Given the description of an element on the screen output the (x, y) to click on. 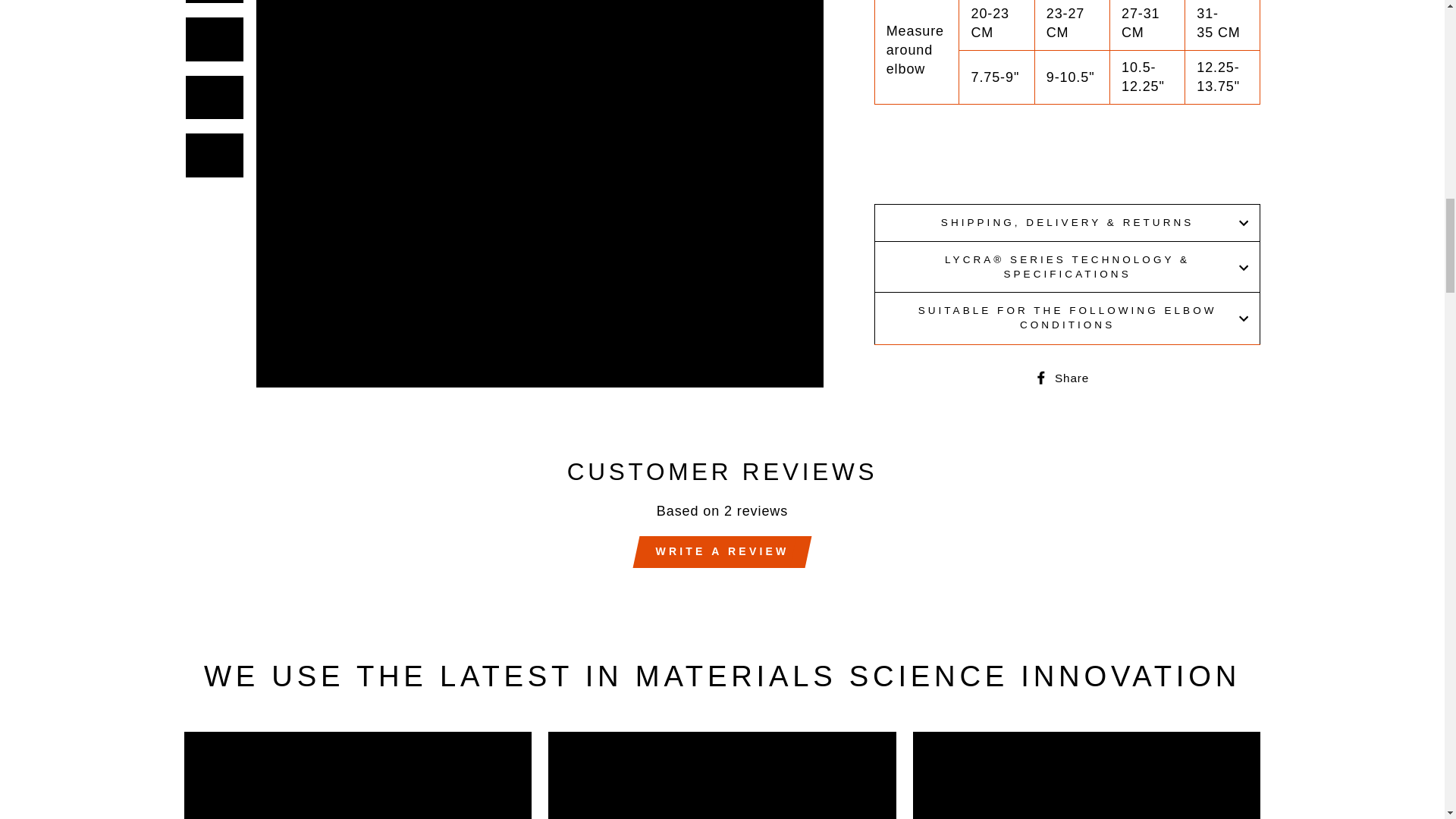
Share on Facebook (1066, 376)
